Given the description of an element on the screen output the (x, y) to click on. 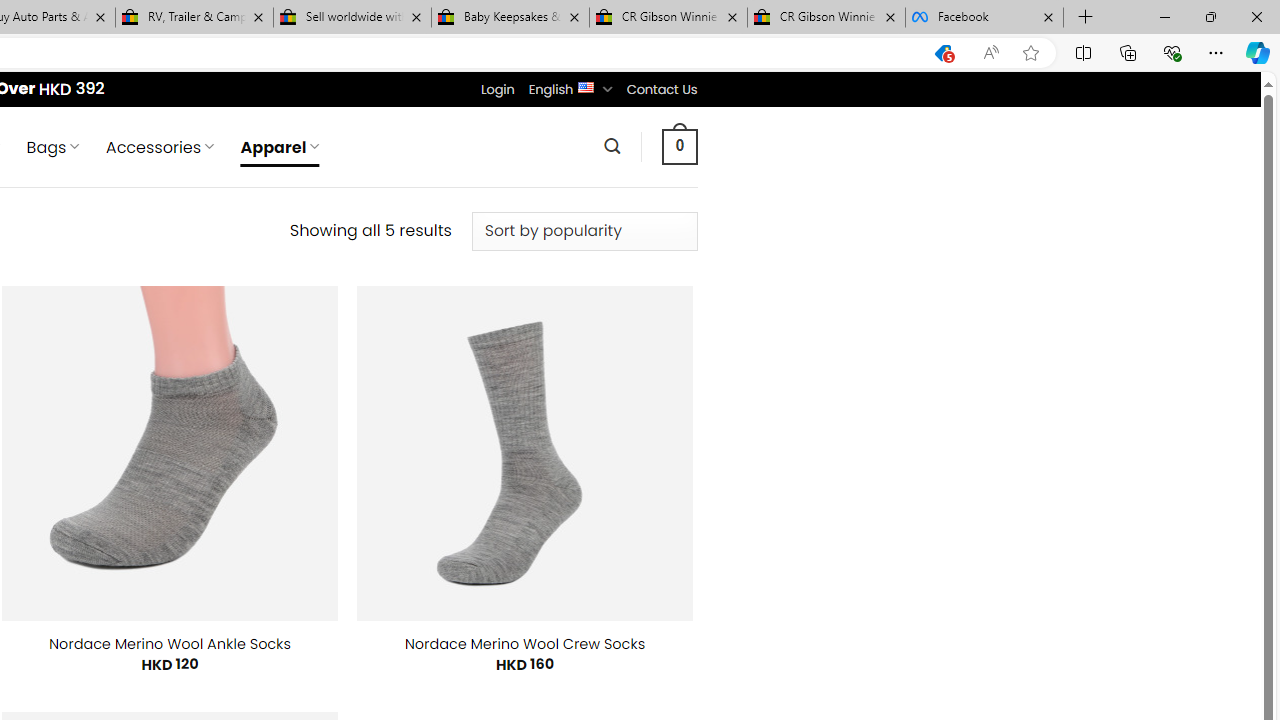
Shop order (584, 231)
Login (497, 89)
Sell worldwide with eBay (352, 17)
Nordace Merino Wool Ankle Socks (169, 643)
This site has coupons! Shopping in Microsoft Edge, 5 (943, 53)
